Given the description of an element on the screen output the (x, y) to click on. 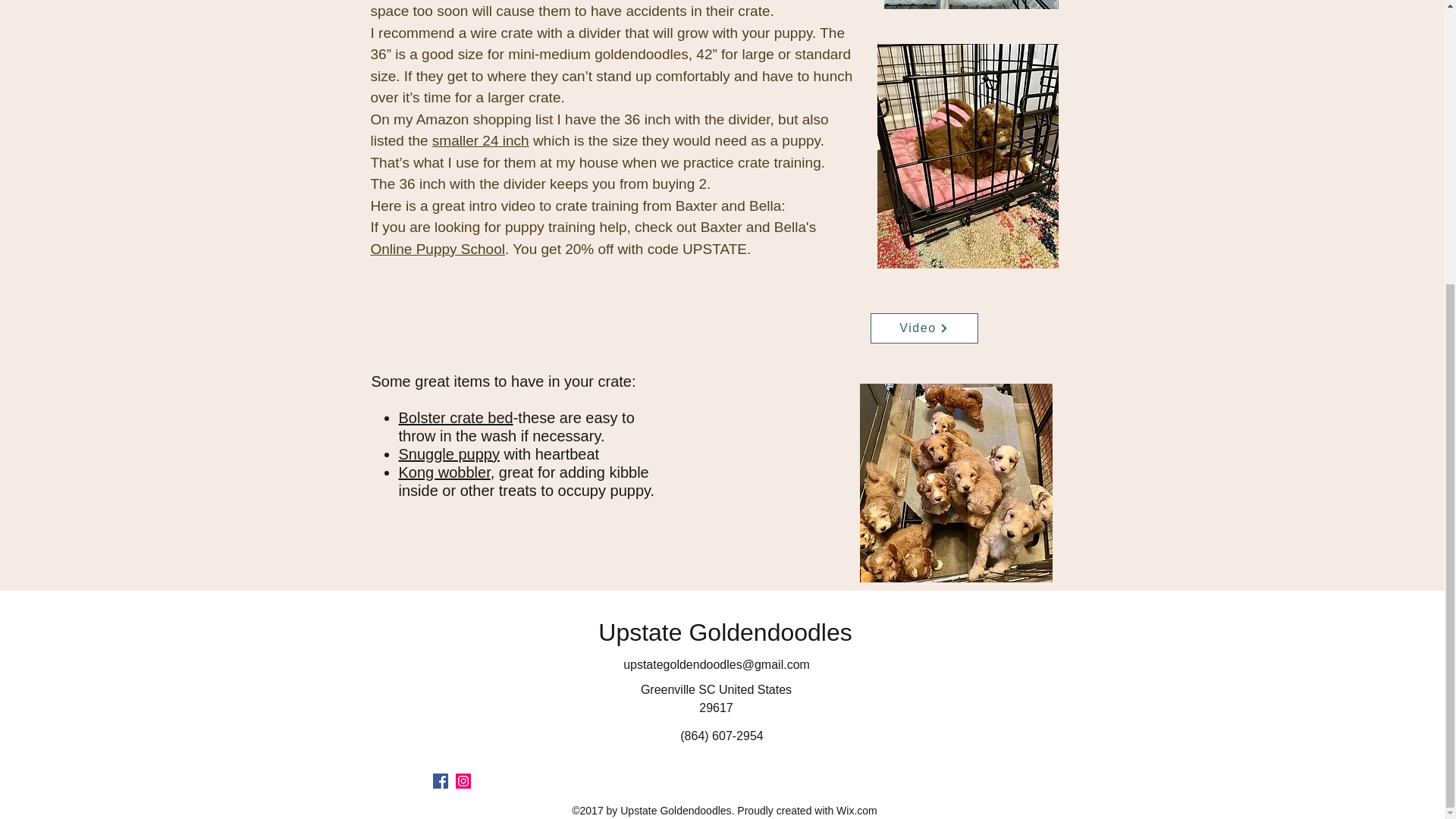
Online Puppy School (436, 248)
Snuggle puppy (448, 453)
Kong wobbler (444, 472)
smaller 24 inch (480, 140)
Video (924, 327)
Bolster crate bed (455, 417)
